Given the description of an element on the screen output the (x, y) to click on. 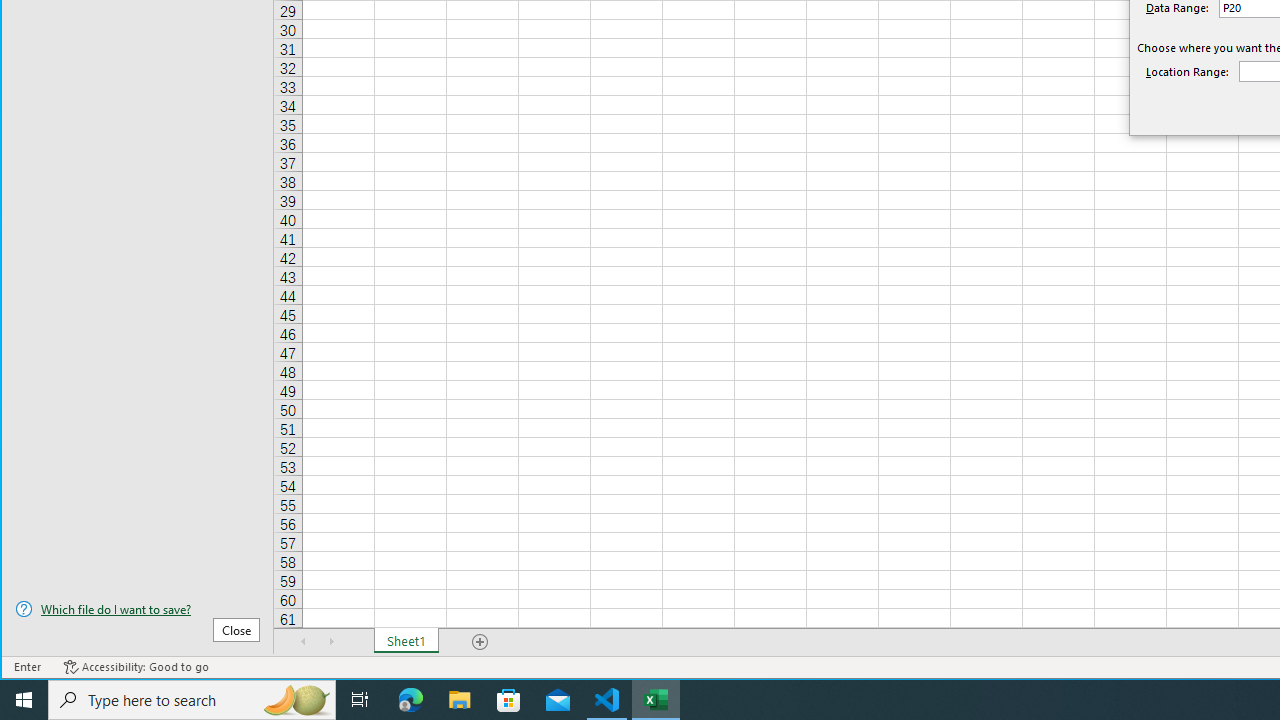
Which file do I want to save? (137, 609)
